Given the description of an element on the screen output the (x, y) to click on. 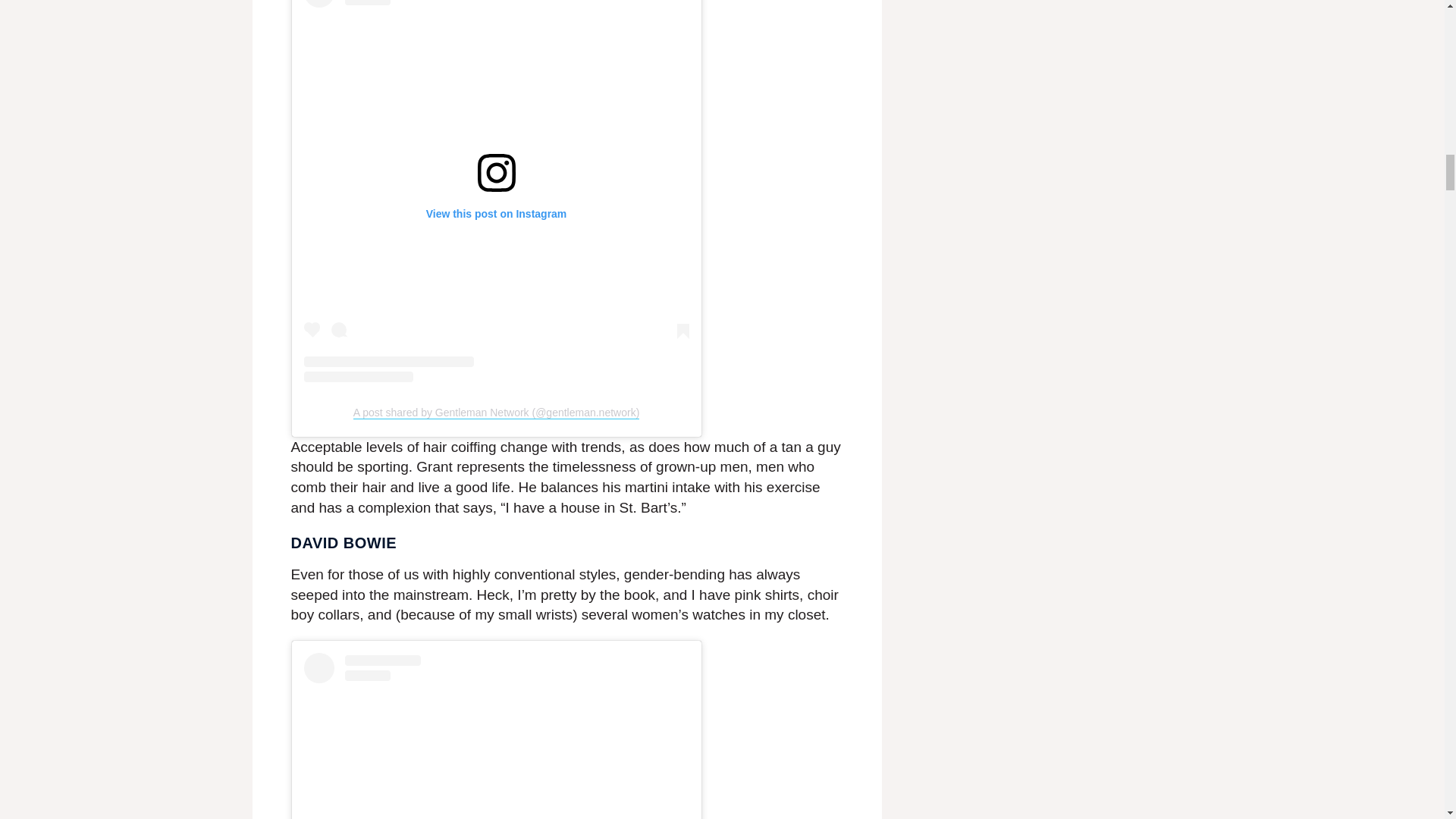
View this post on Instagram (495, 735)
